Given the description of an element on the screen output the (x, y) to click on. 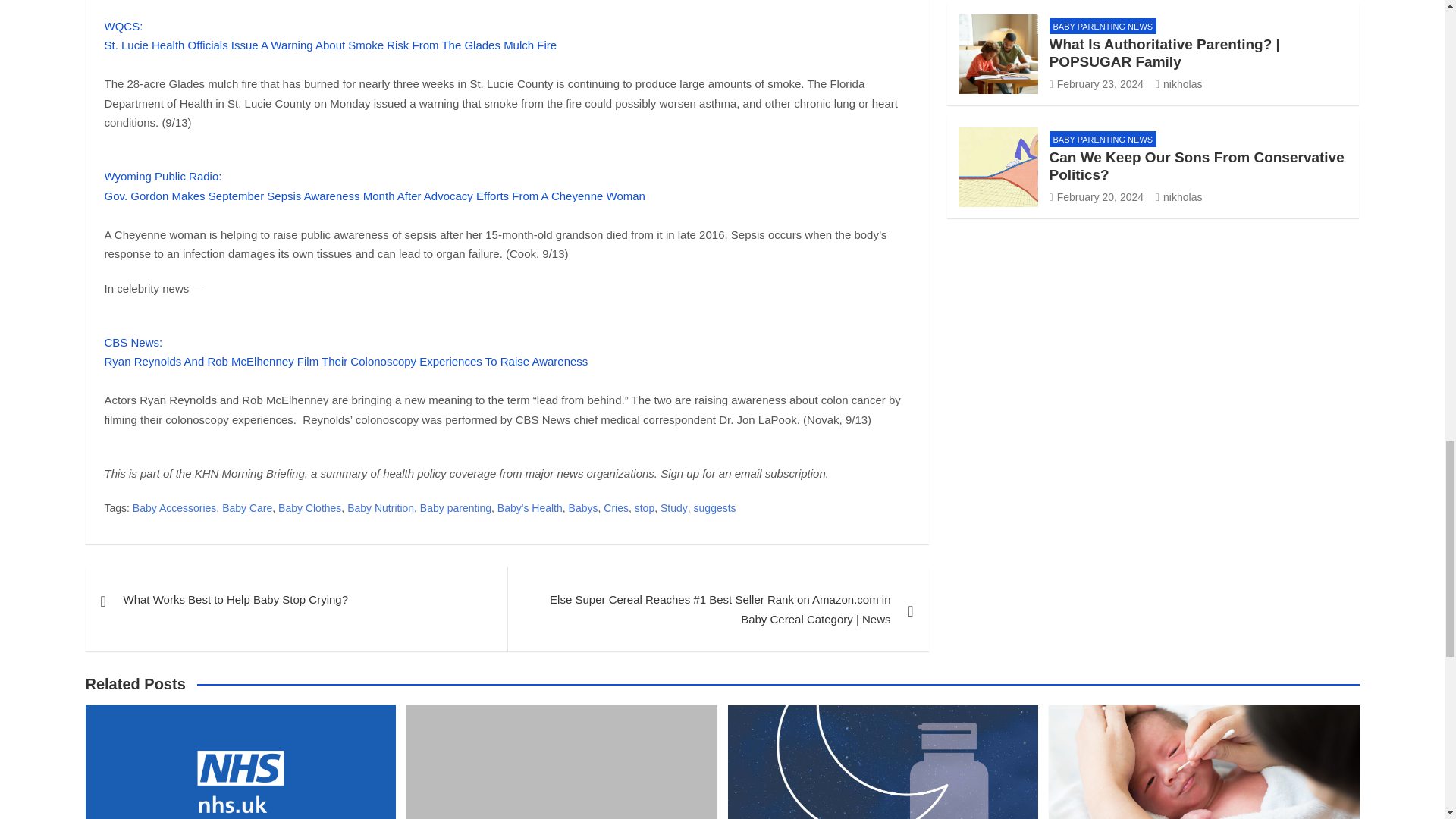
Baby parenting (456, 508)
Babys (583, 508)
stop (643, 508)
Baby Nutrition (380, 508)
Baby Accessories (174, 508)
Study (674, 508)
Baby's Health (529, 508)
Cries (616, 508)
Can We Keep Our Sons From Conservative Politics? (1096, 196)
What Works Best to Help Baby Stop Crying? (295, 599)
Baby Care (247, 508)
Baby Clothes (309, 508)
